Given the description of an element on the screen output the (x, y) to click on. 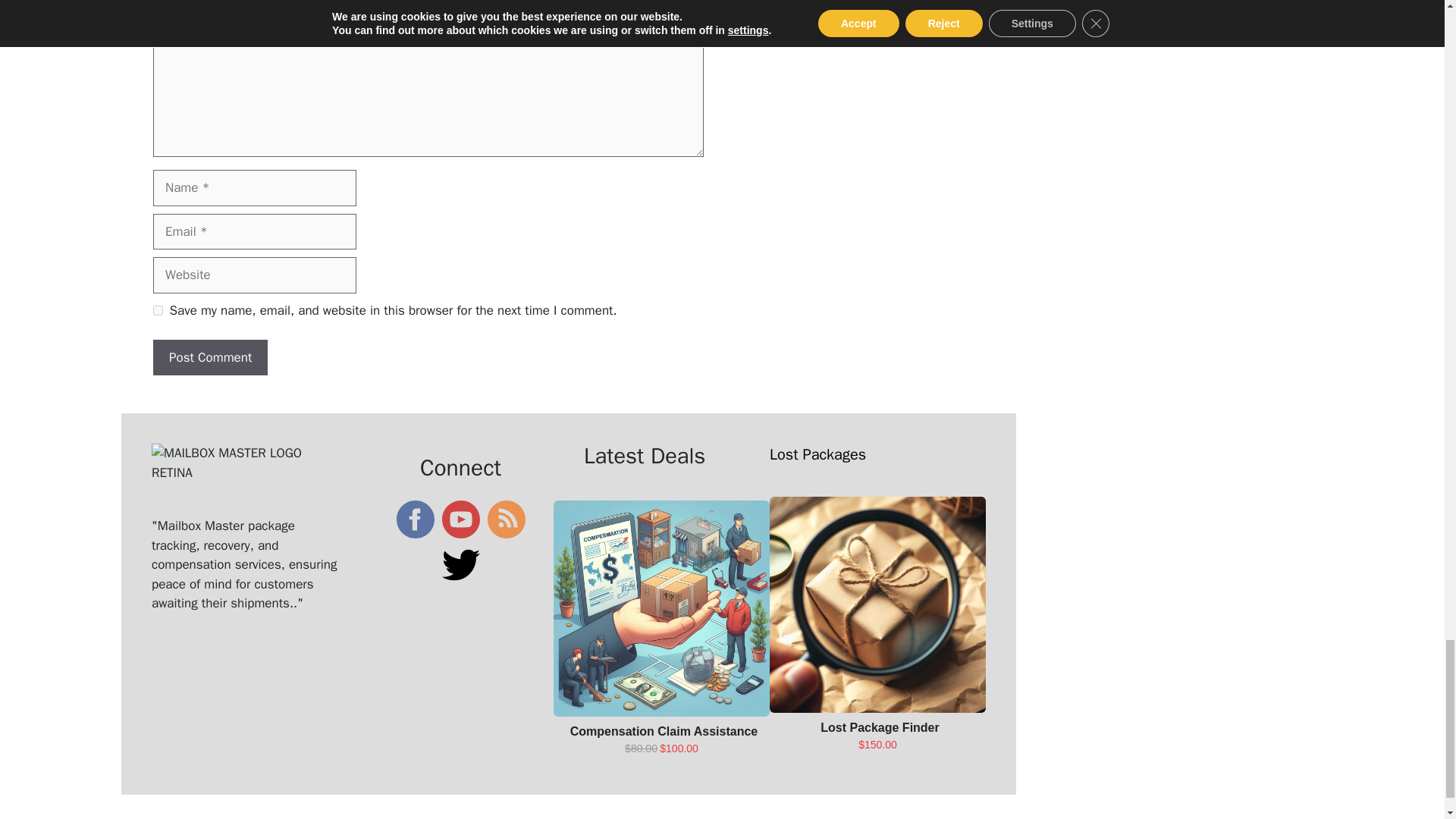
Post Comment (209, 357)
yes (157, 310)
Post Comment (209, 357)
Compensation Claim Assistance (663, 730)
